Given the description of an element on the screen output the (x, y) to click on. 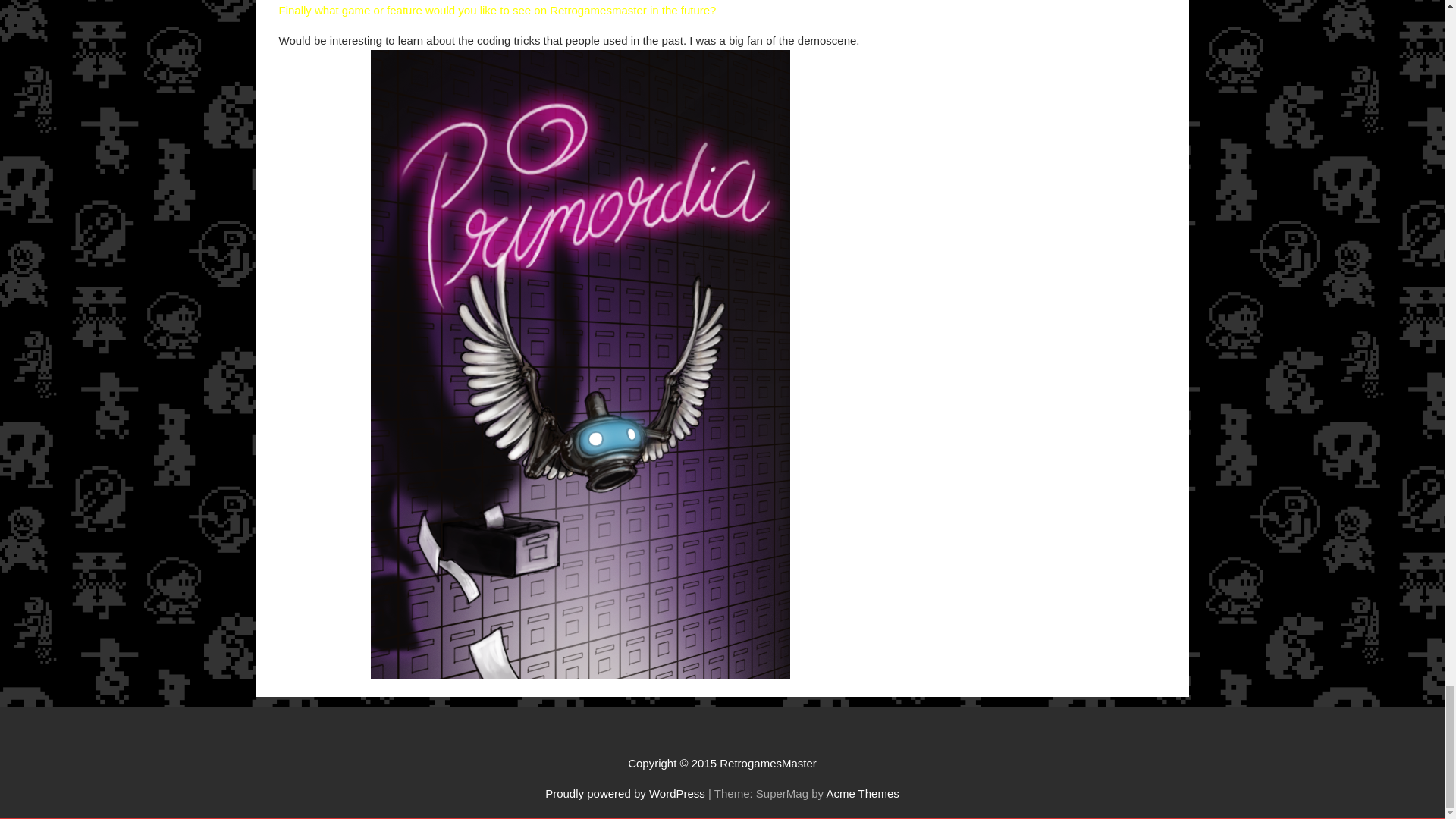
Proudly powered by WordPress (624, 793)
